Given the description of an element on the screen output the (x, y) to click on. 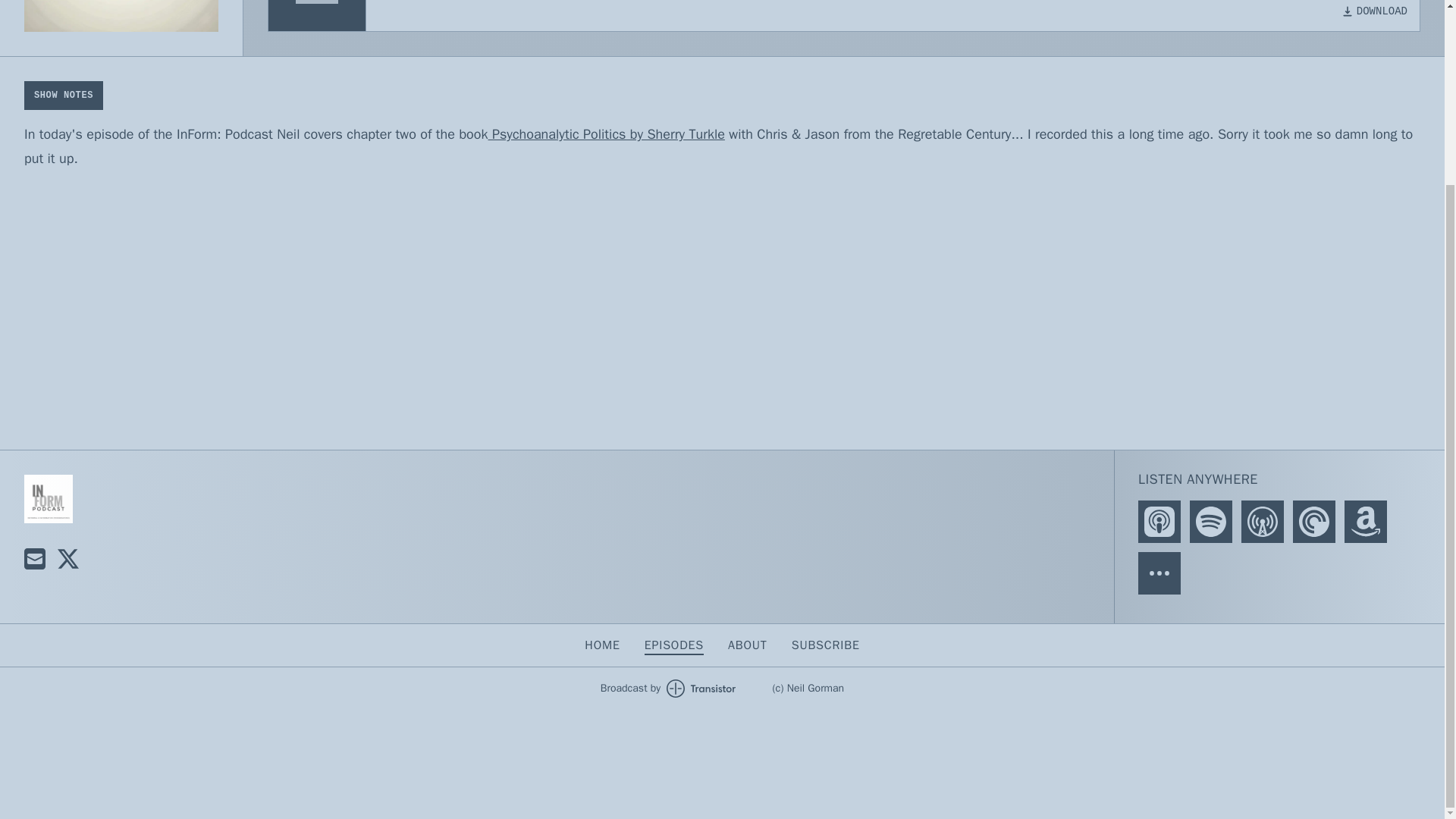
1x (135, 678)
Home (48, 499)
EPISODES (674, 645)
View InForm:Podcast on Twitter (68, 558)
ABOUT (747, 645)
Psychoanalytic Politics by Sherry Turkle (606, 134)
Listen to InForm:Podcast on Spotify (1210, 521)
HOME (602, 645)
Play Episode (316, 2)
Download Episode (1373, 11)
SUBSCRIBE (826, 645)
Listen to InForm:Podcast on Apple Podcasts (1159, 521)
DOWNLOAD (1373, 11)
Broadcast by (667, 688)
